Given the description of an element on the screen output the (x, y) to click on. 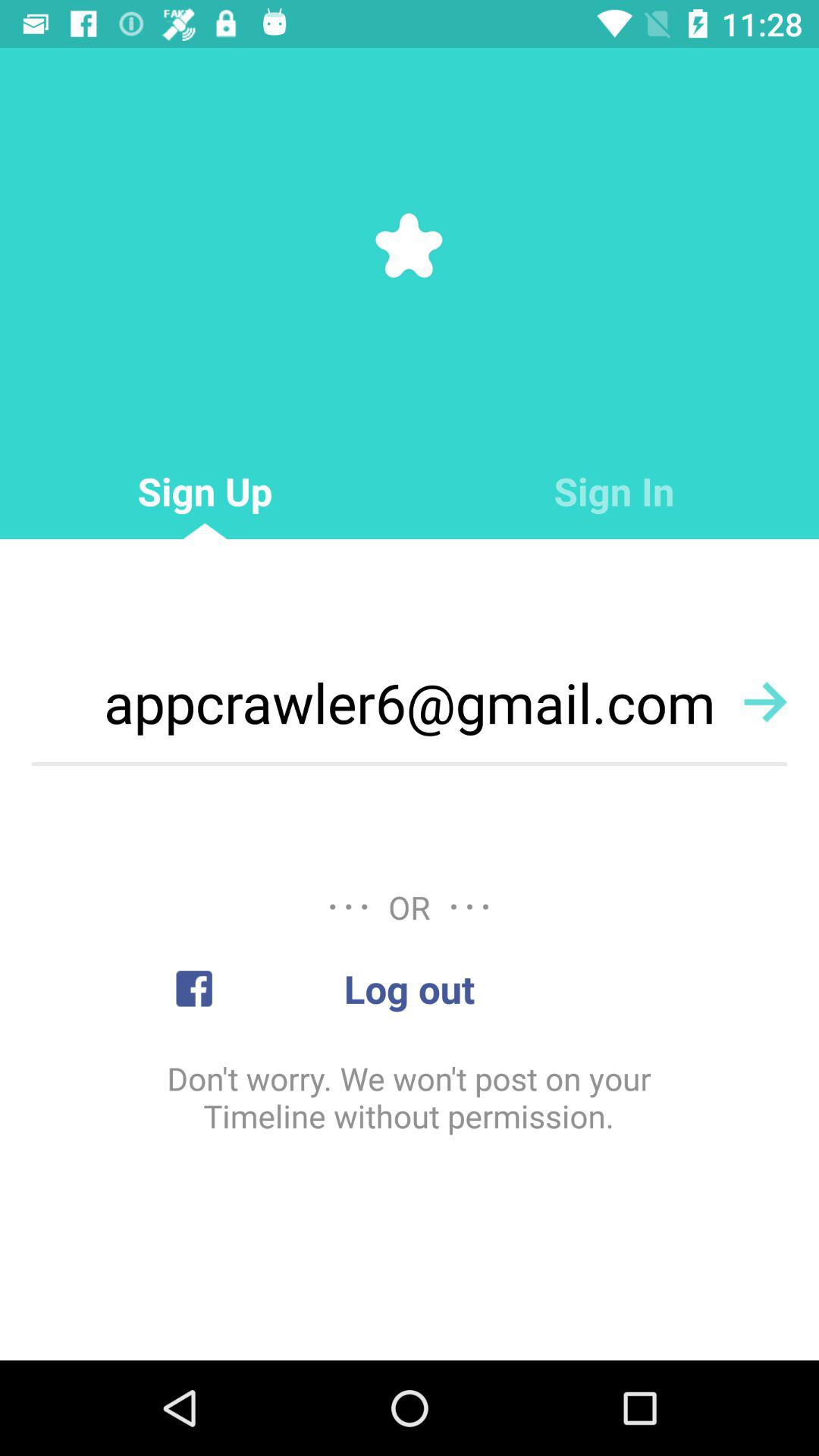
press the item next to the sign up item (614, 491)
